Given the description of an element on the screen output the (x, y) to click on. 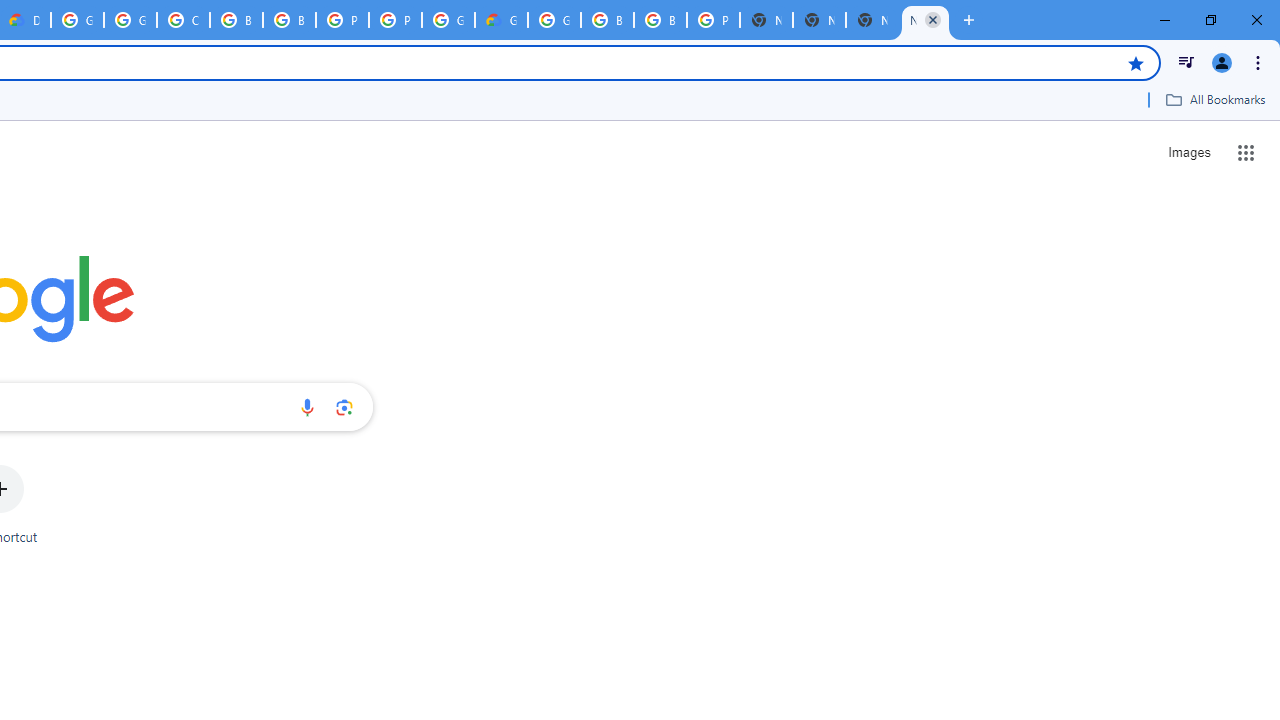
Browse Chrome as a guest - Computer - Google Chrome Help (607, 20)
New Tab (766, 20)
Google Cloud Estimate Summary (501, 20)
Browse Chrome as a guest - Computer - Google Chrome Help (235, 20)
New Tab (925, 20)
